Given the description of an element on the screen output the (x, y) to click on. 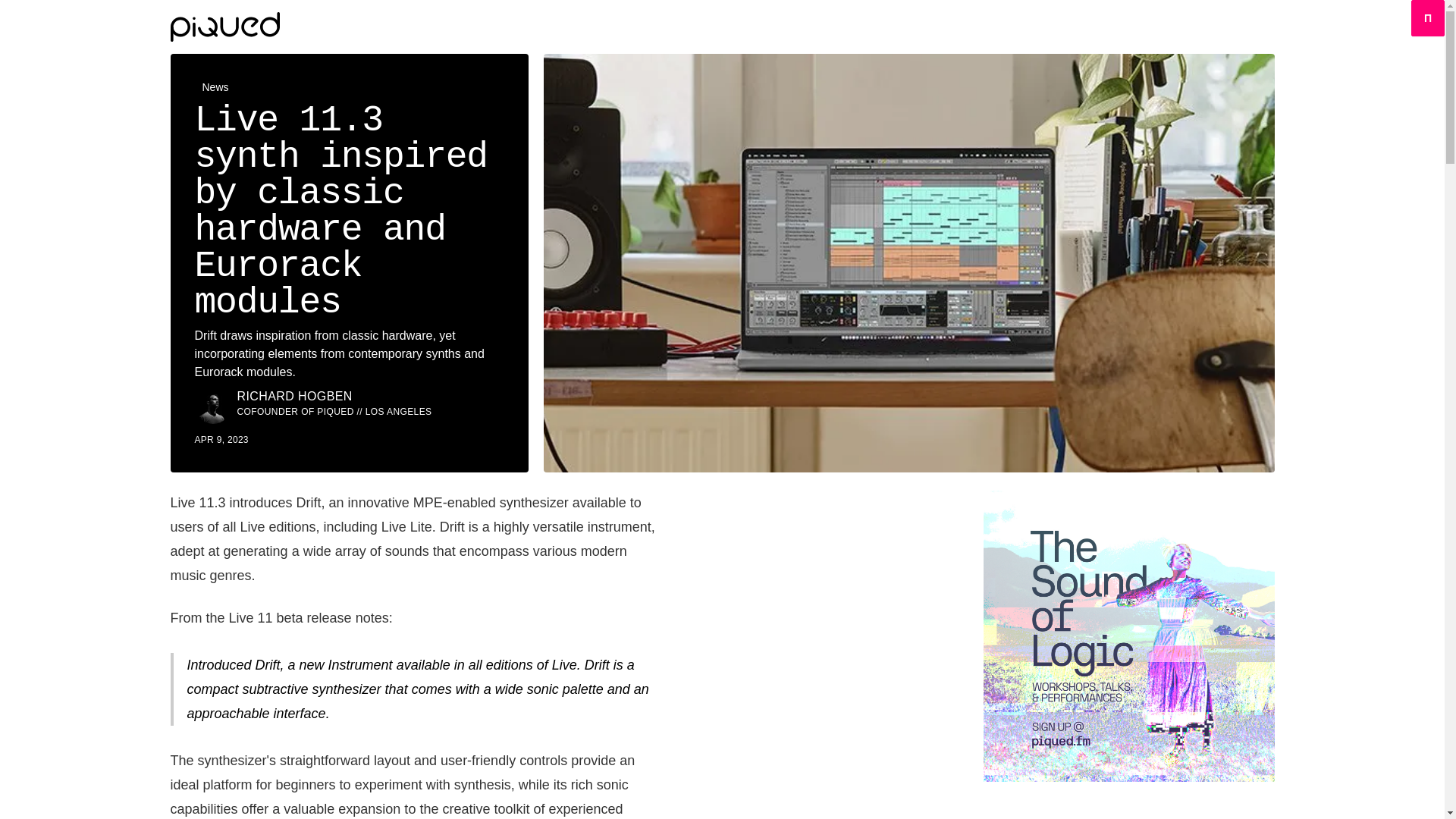
News (214, 87)
RICHARD HOGBEN (293, 395)
News (214, 87)
